Given the description of an element on the screen output the (x, y) to click on. 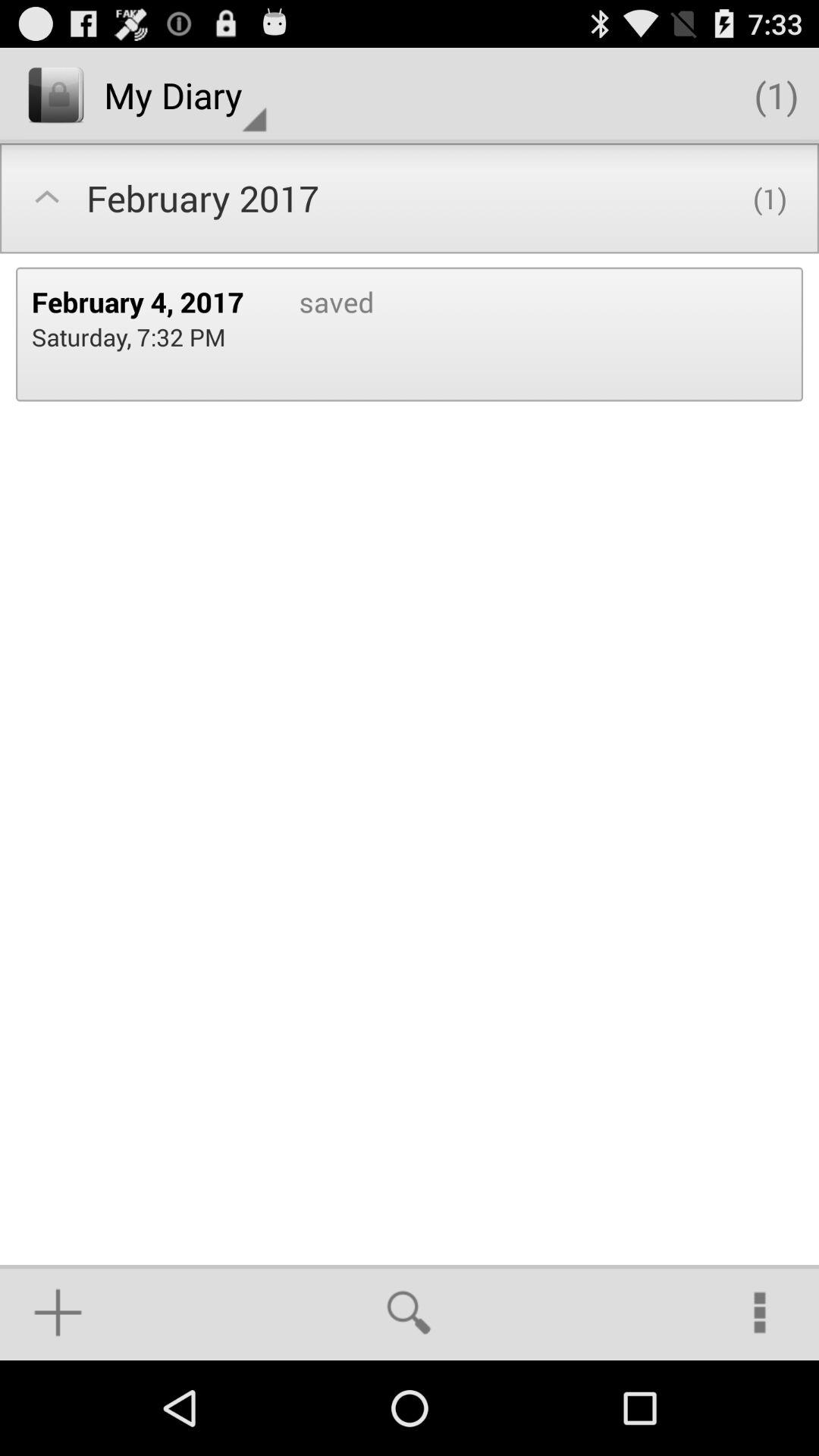
open the my diary (185, 95)
